Given the description of an element on the screen output the (x, y) to click on. 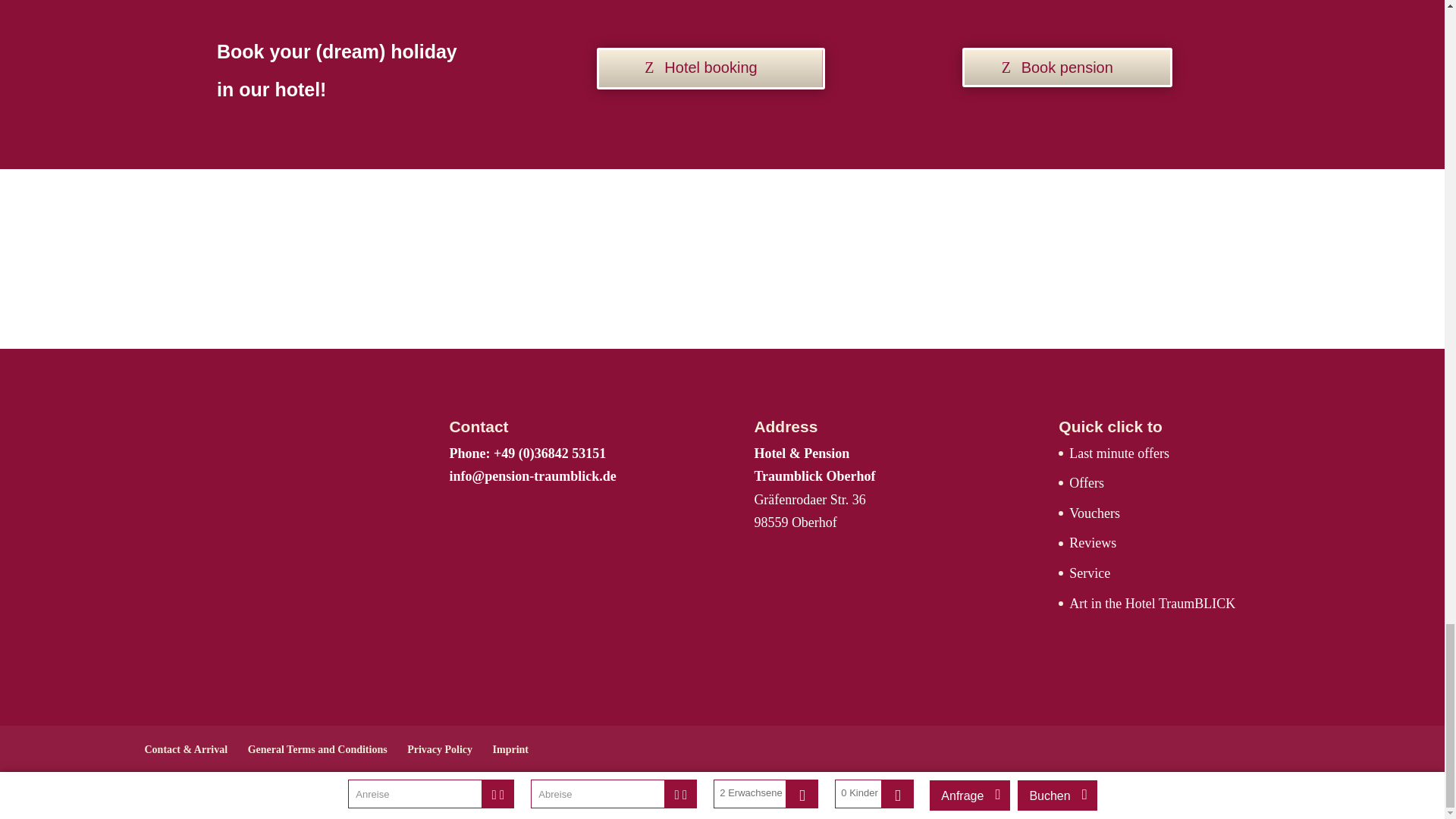
Externe-Logos (722, 258)
